Given the description of an element on the screen output the (x, y) to click on. 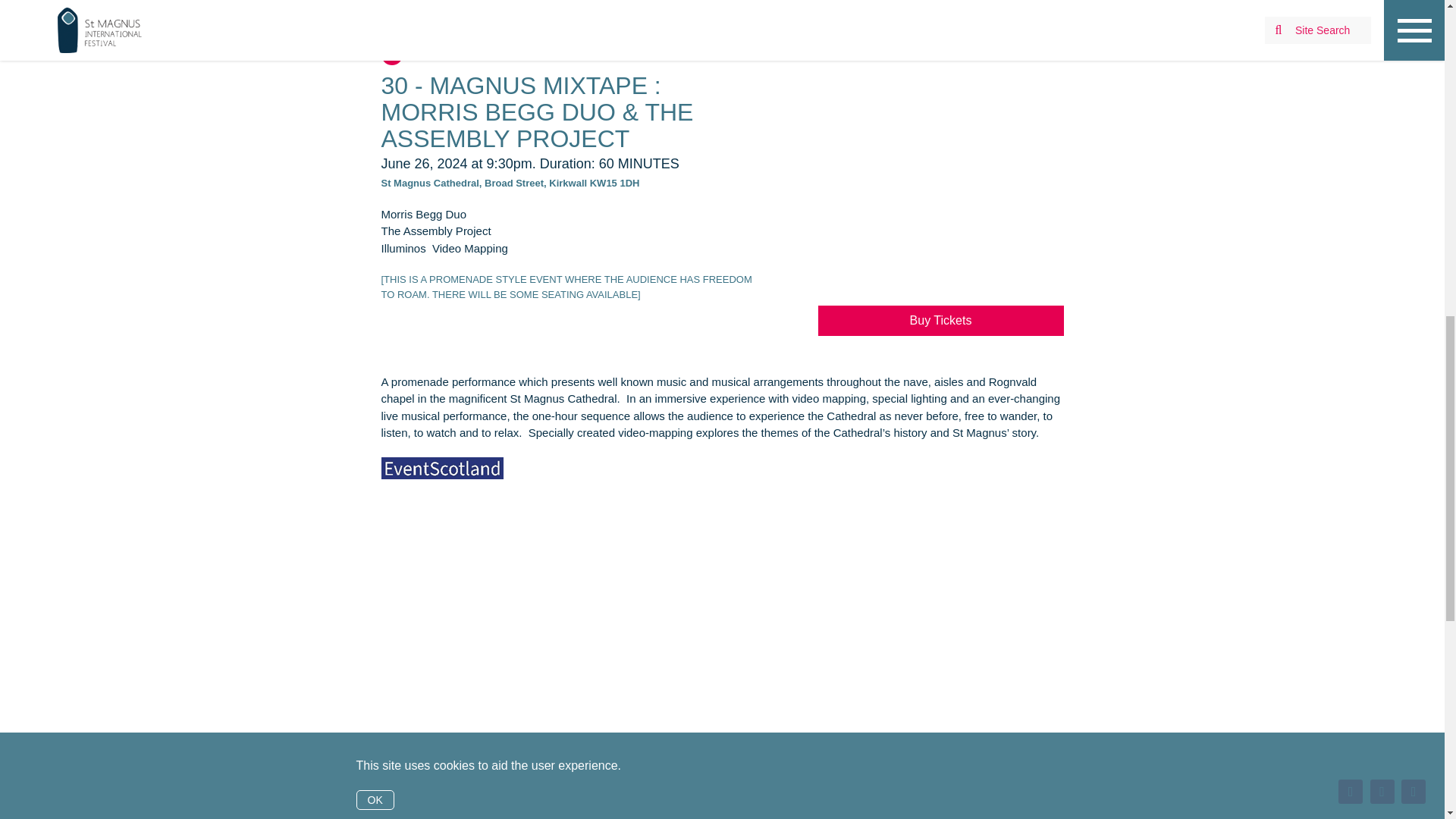
FESTIVAL PROGRAMME 2024 (172, 0)
Buy Tickets (939, 319)
Home (79, 0)
